Given the description of an element on the screen output the (x, y) to click on. 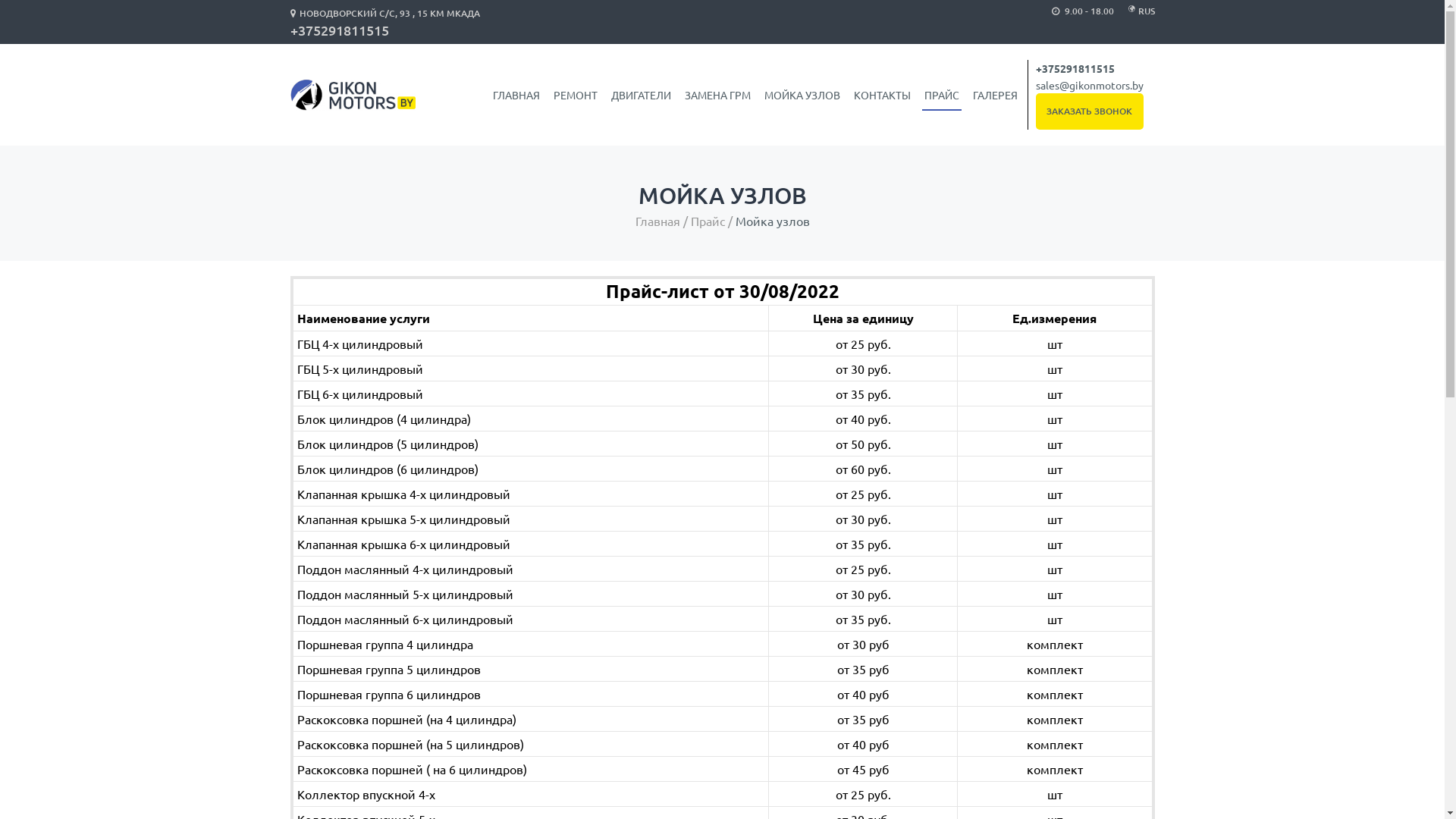
sales@gikonmotors.by Element type: text (1089, 84)
+375291811515 Element type: text (1074, 68)
RUS Element type: text (1145, 10)
